Given the description of an element on the screen output the (x, y) to click on. 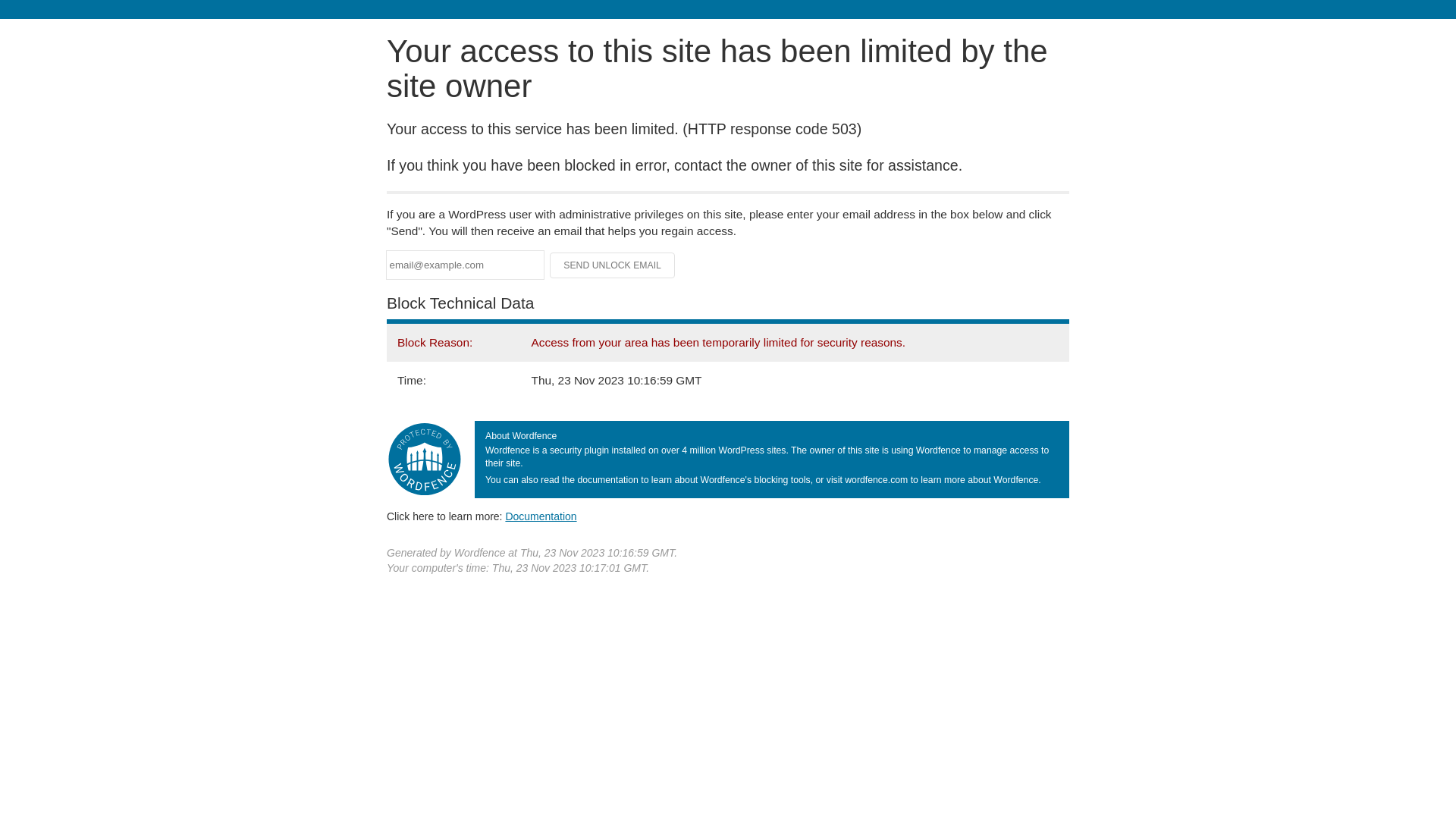
Send Unlock Email Element type: text (612, 265)
Documentation Element type: text (540, 516)
